Given the description of an element on the screen output the (x, y) to click on. 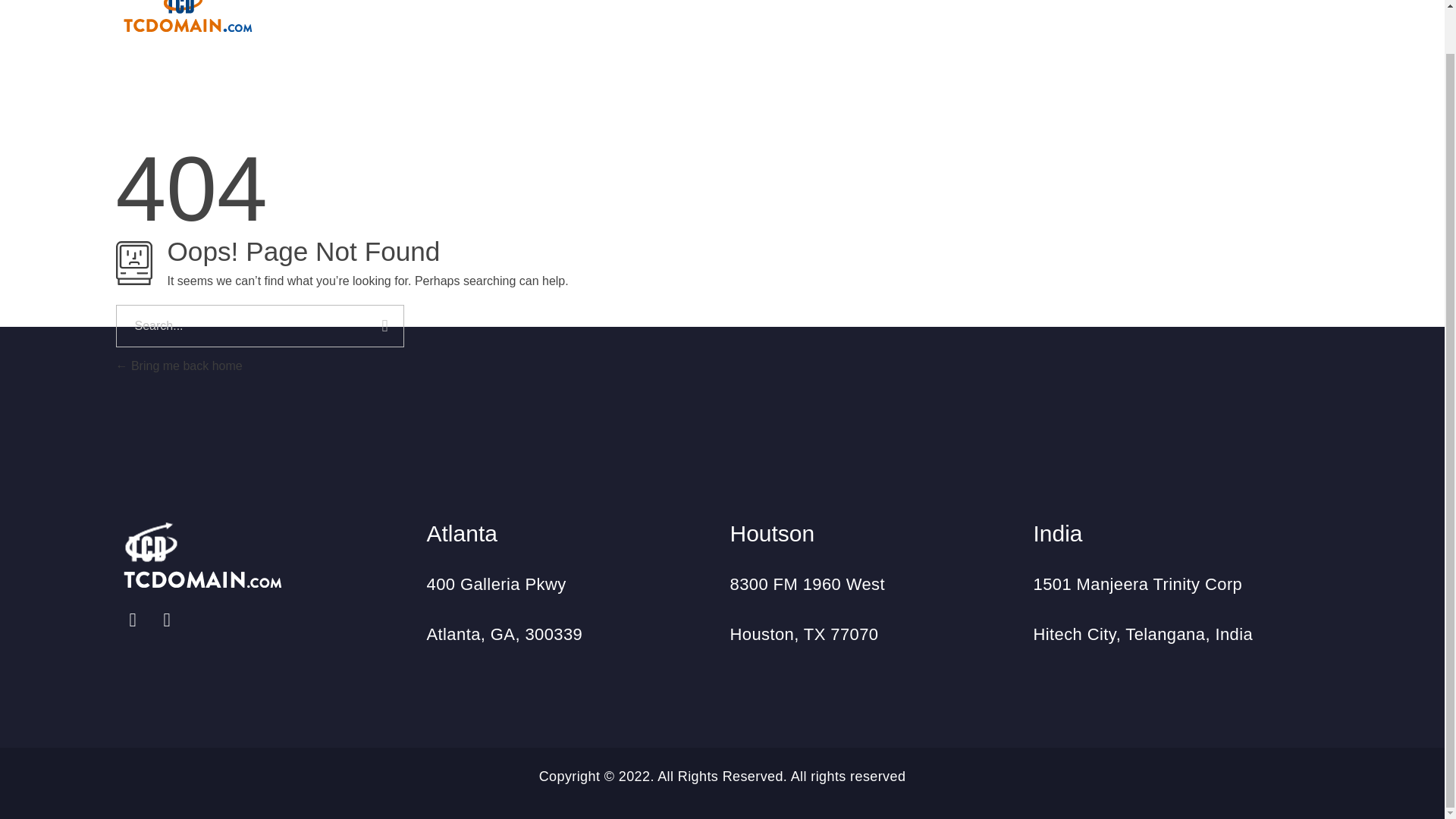
Home (643, 4)
ETL, EDI Services (895, 7)
Contact Us (1265, 7)
Bring me back home (178, 365)
About Us (735, 7)
EDI Compare Utility (1094, 7)
